Given the description of an element on the screen output the (x, y) to click on. 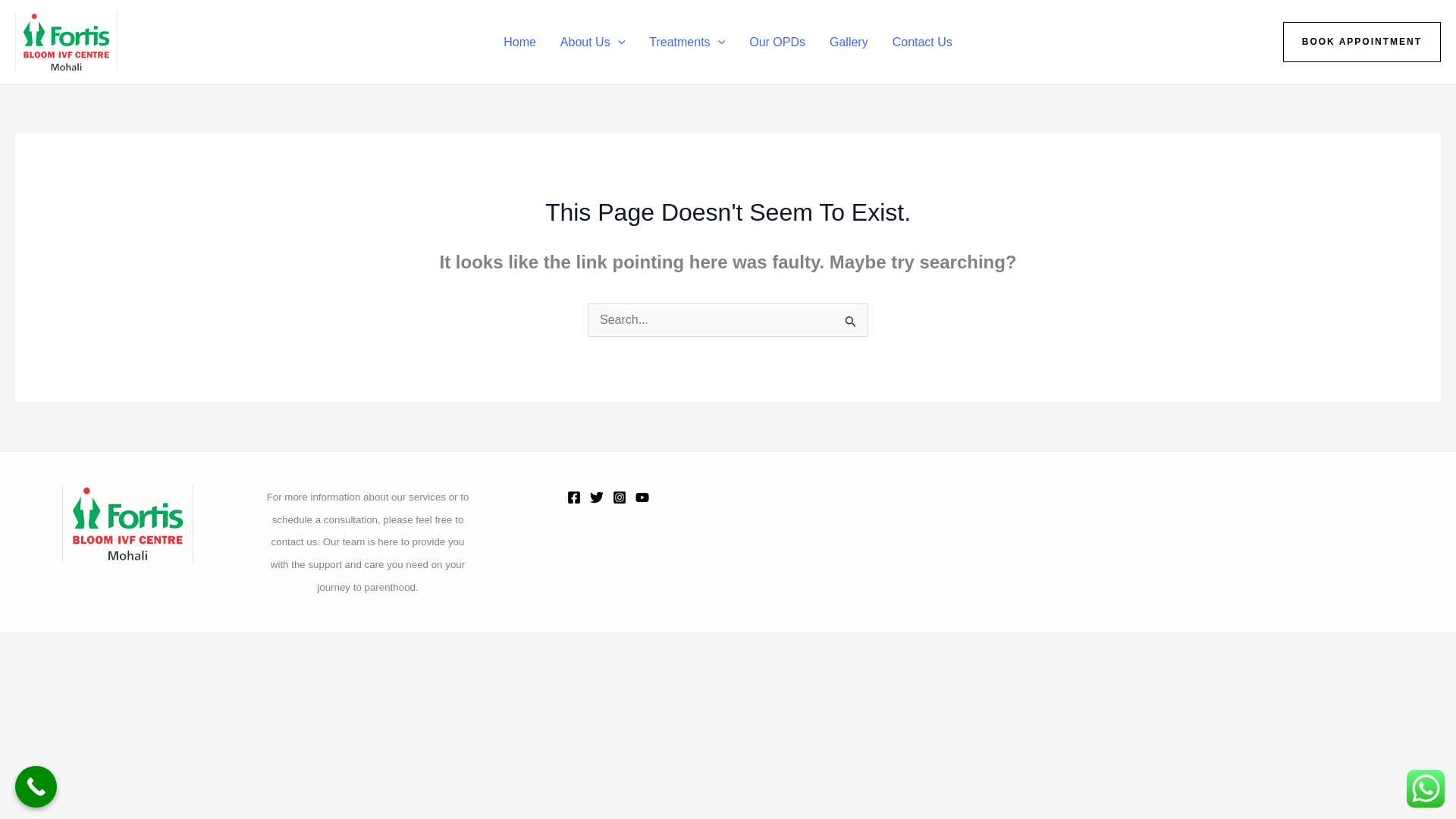
Our OPDs (776, 41)
Treatments (686, 41)
Home (520, 41)
Search (850, 321)
Contact Us (921, 41)
BOOK APPOINTMENT (1361, 41)
Gallery (848, 41)
Search (850, 321)
About Us (592, 41)
